Given the description of an element on the screen output the (x, y) to click on. 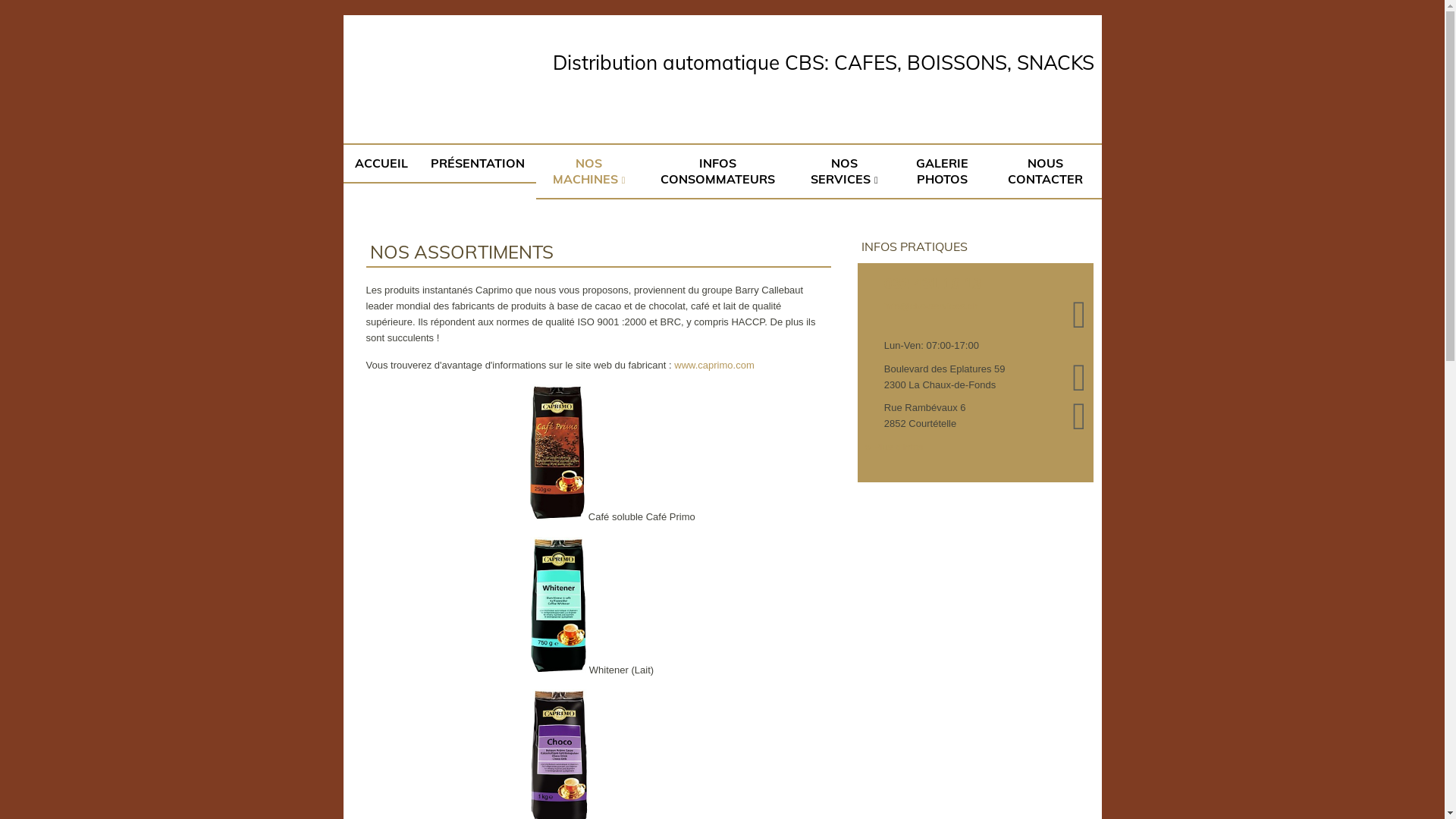
032 431 10 13 Element type: text (936, 283)
www.caprimo.com Element type: text (713, 364)
info@cbs-services.ch Element type: text (935, 306)
GALERIE PHOTOS Element type: text (941, 171)
NOS SERVICES Element type: text (843, 171)
Distribution automatique CBS: CAFES, BOISSONS, SNACKS Element type: text (822, 62)
NOUS CONTACTER Element type: text (1045, 171)
ACCUEIL Element type: text (380, 163)
INFOS CONSOMMATEURS Element type: text (717, 171)
NOS MACHINES Element type: text (588, 171)
